Given the description of an element on the screen output the (x, y) to click on. 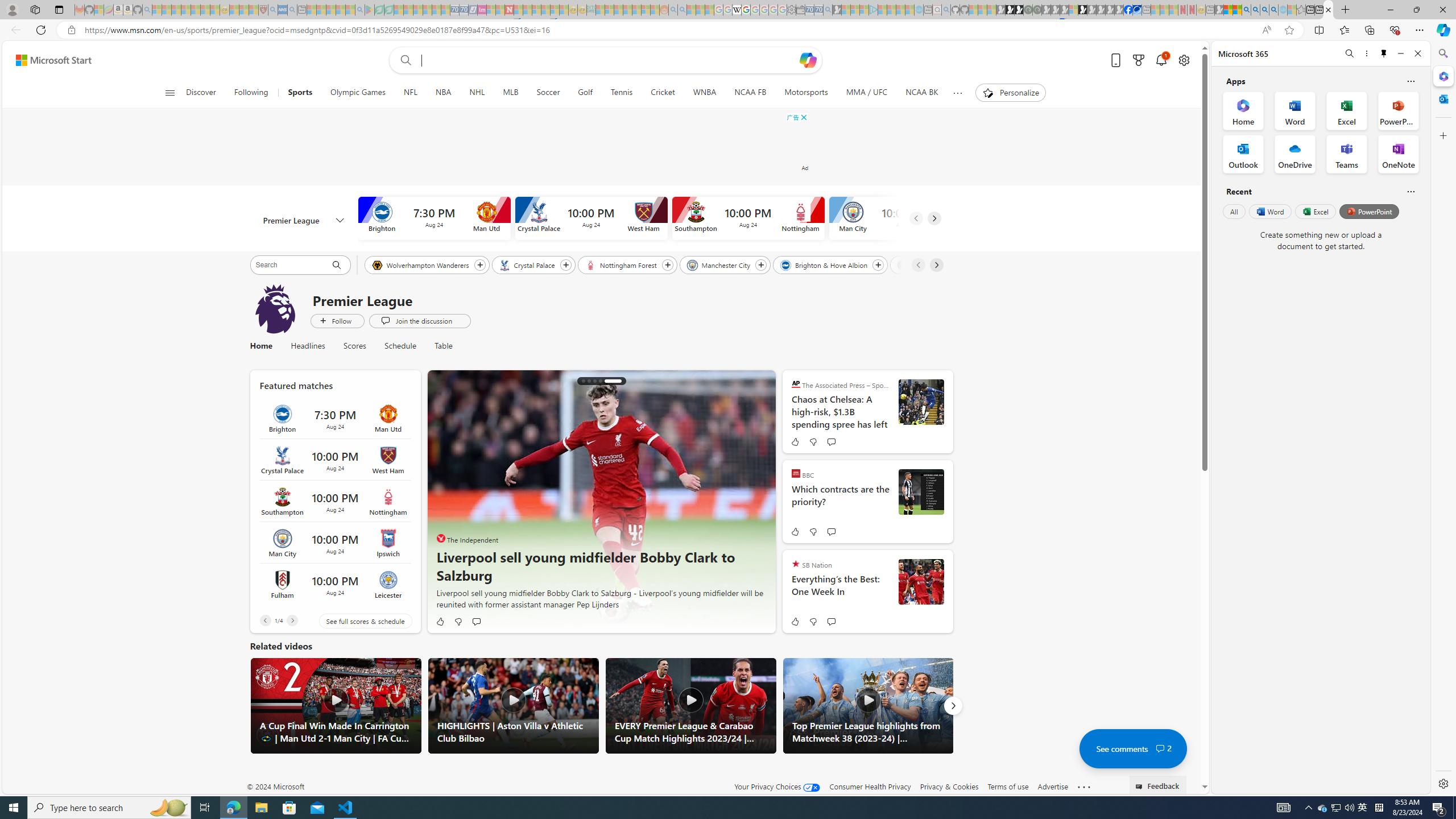
PowerPoint (1369, 210)
MMA / UFC (866, 92)
Nordace | Facebook (1127, 9)
WNBA (704, 92)
Your Privacy Choices (777, 786)
Play Zoo Boom in your browser | Games from Microsoft Start (1009, 9)
Olympic Games (357, 92)
